Given the description of an element on the screen output the (x, y) to click on. 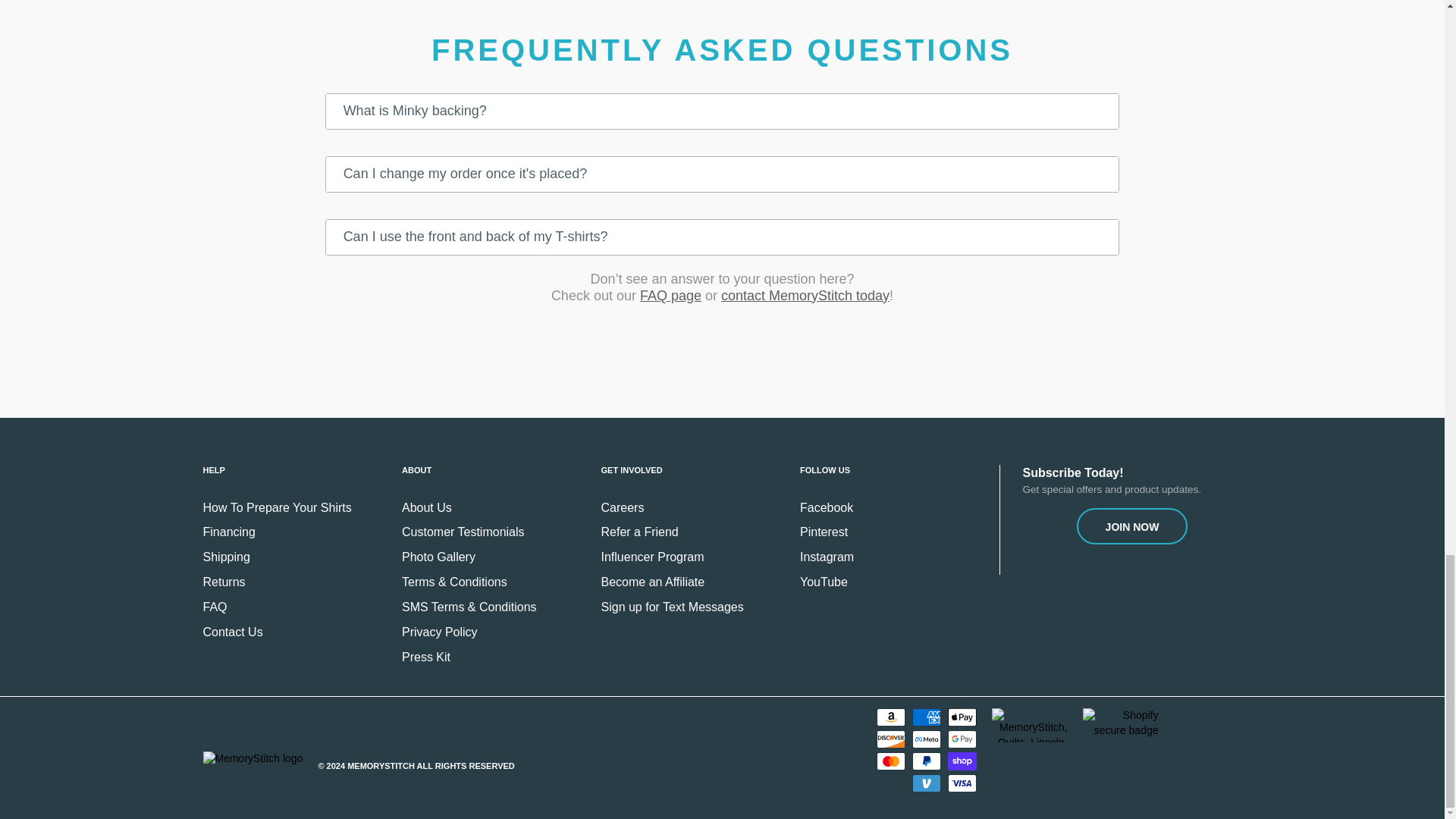
Apple Pay (961, 717)
PayPal (926, 761)
Amazon (890, 717)
American Express (926, 717)
Meta Pay (926, 739)
Mastercard (890, 761)
Visa (961, 782)
This online store is secured by Shopify (1120, 723)
Google Pay (961, 739)
Venmo (926, 782)
